Given the description of an element on the screen output the (x, y) to click on. 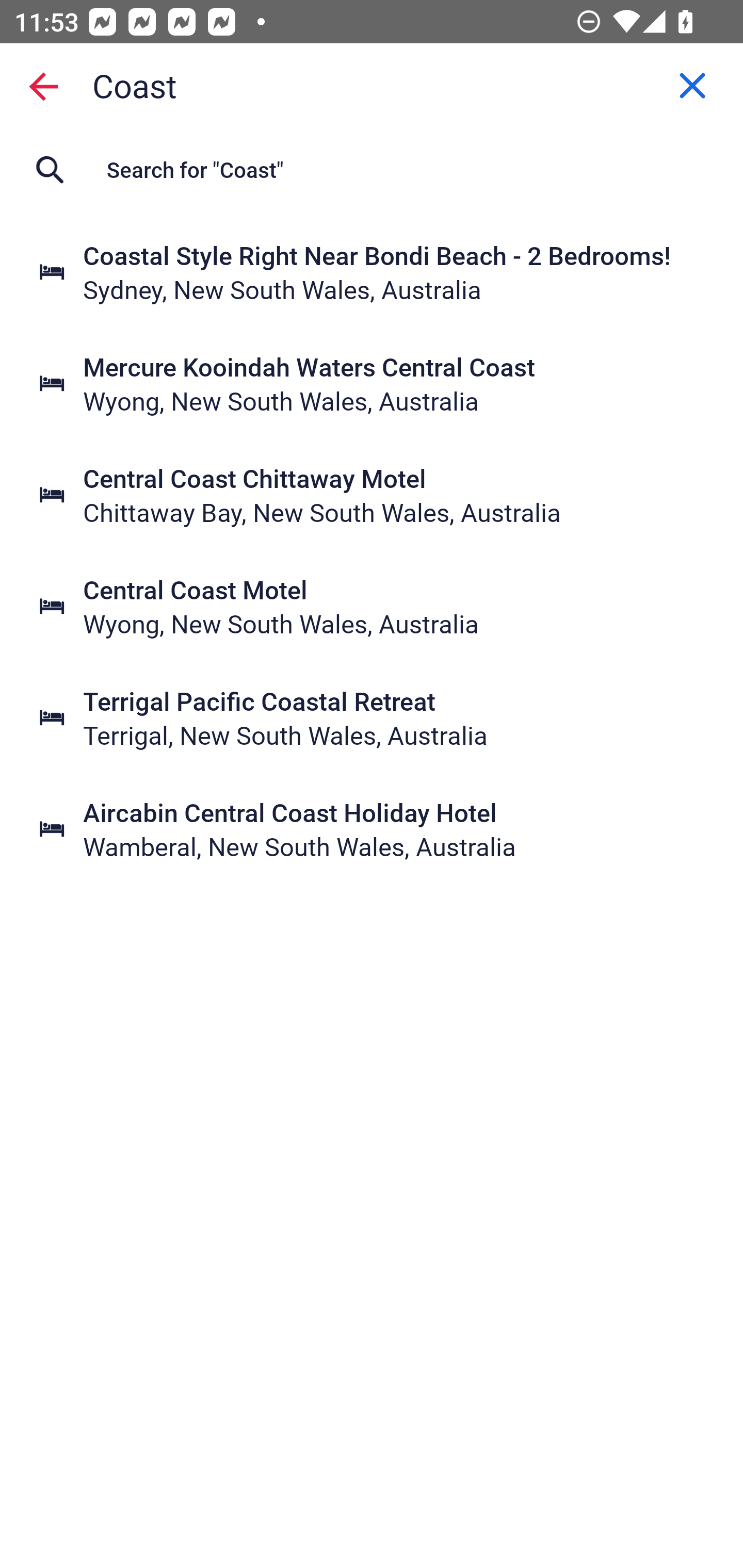
Clear query (692, 85)
Property name, Coast (371, 85)
Back to search screen (43, 86)
Search for "Coast" (371, 170)
